Given the description of an element on the screen output the (x, y) to click on. 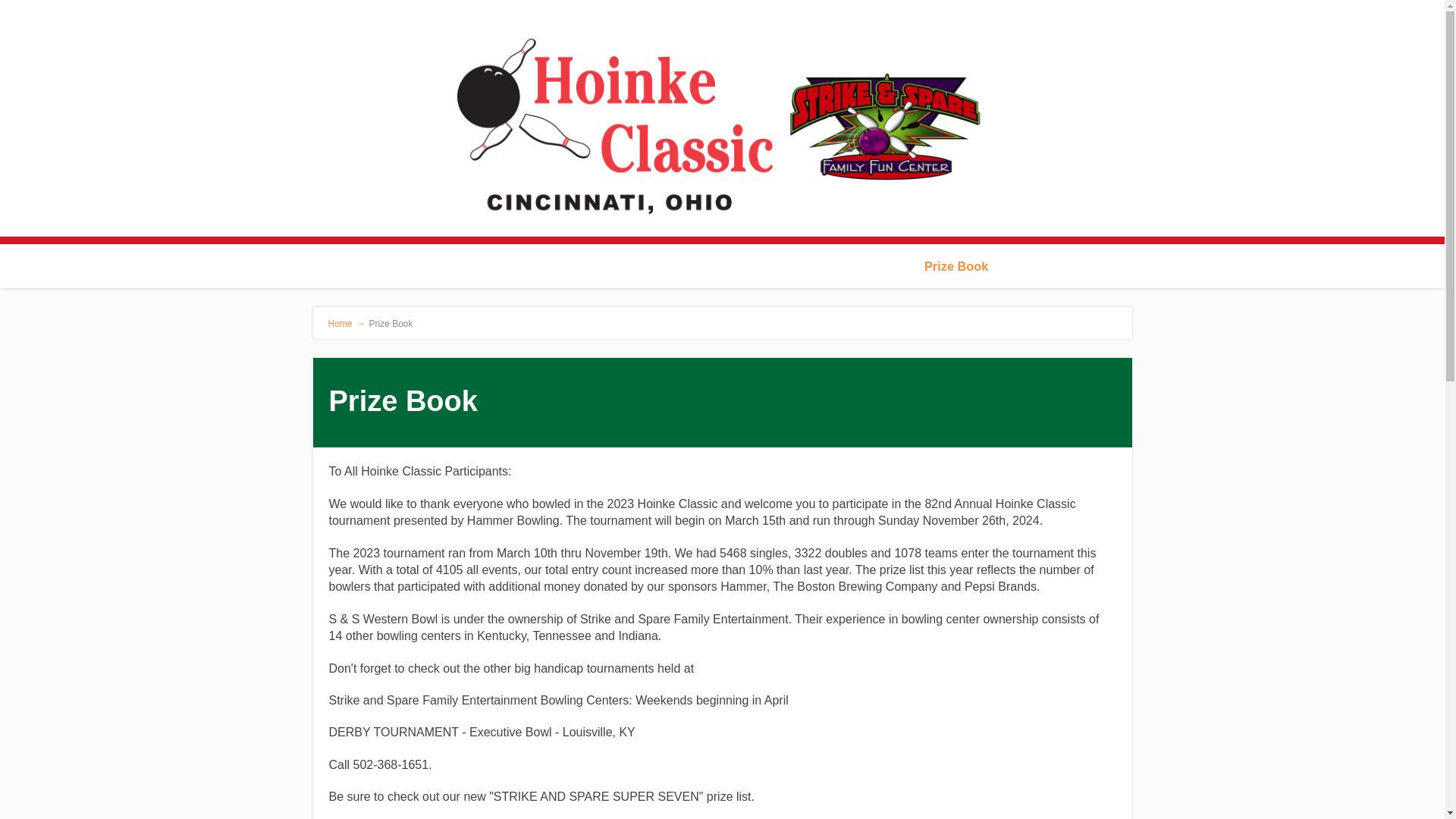
Tournament Information (637, 266)
Standings (807, 266)
Sponsors (880, 266)
History (397, 266)
Prize Book (956, 266)
Hotels (743, 266)
Contact Us (1035, 266)
